Given the description of an element on the screen output the (x, y) to click on. 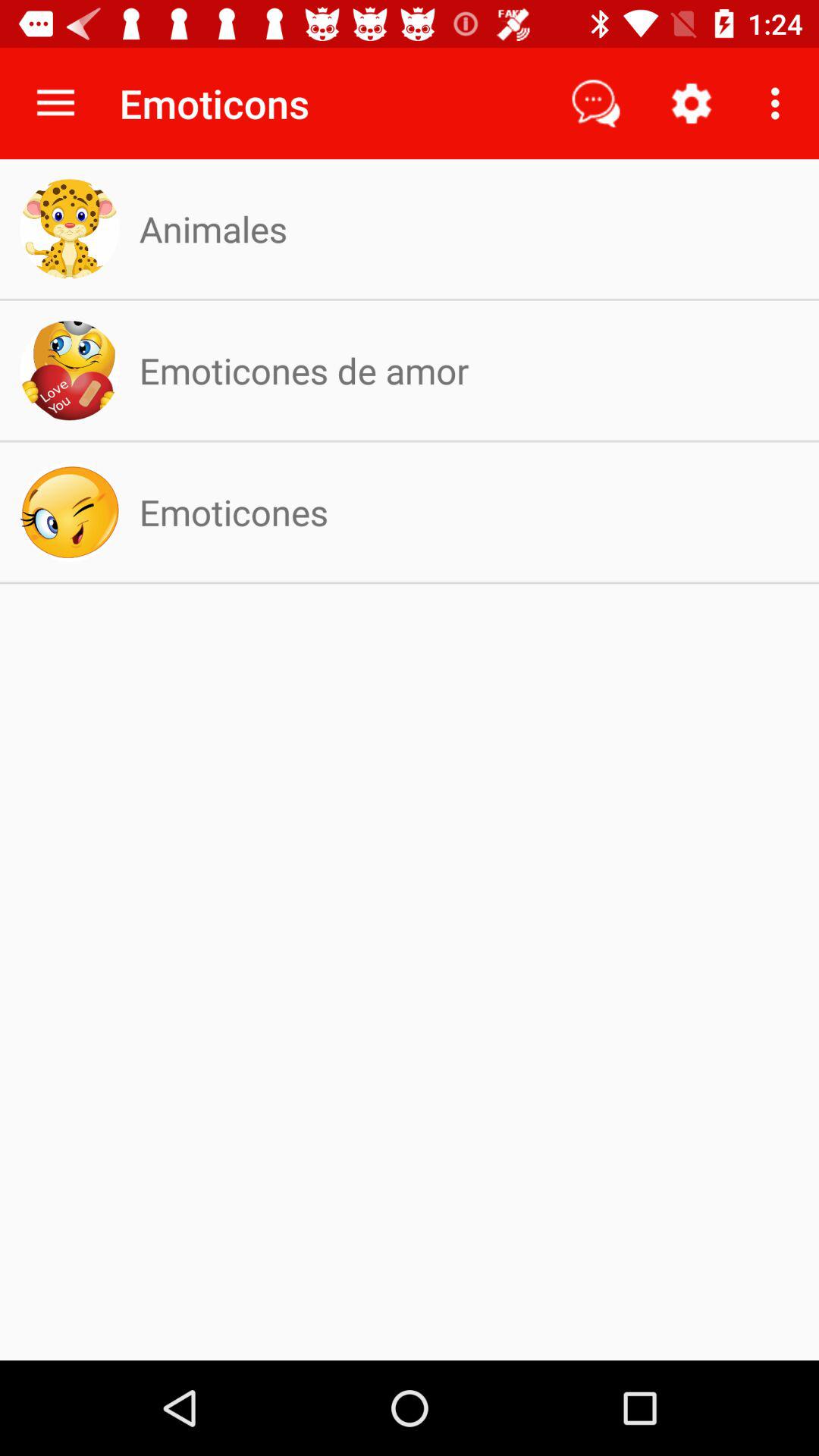
select the setting icon bar (691, 103)
select the logo beside animales (69, 229)
click chat icon left to settings icon (595, 103)
